Given the description of an element on the screen output the (x, y) to click on. 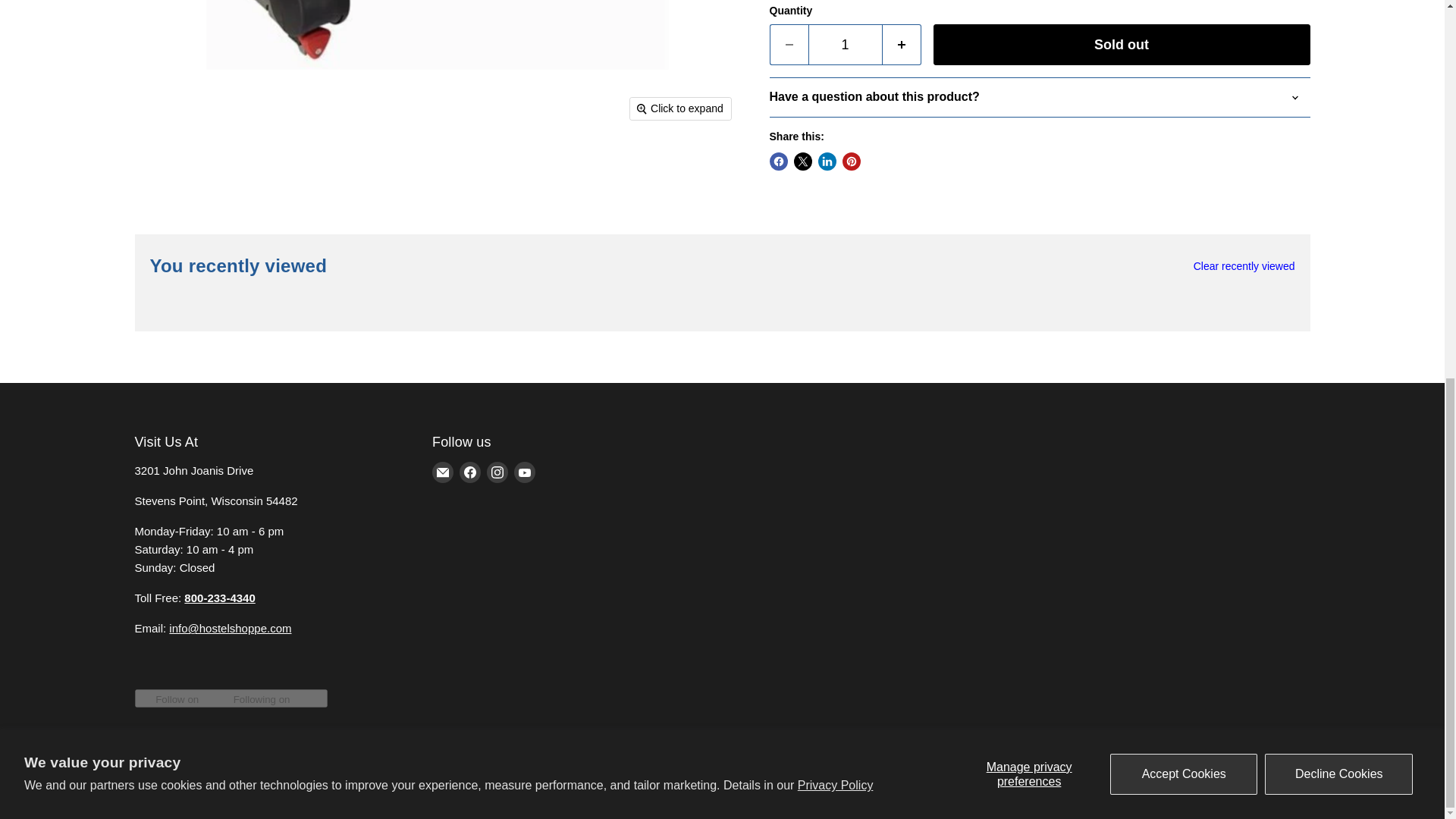
Instagram (497, 472)
YouTube (524, 472)
Contact Hostel Shoppe's general email address. (229, 627)
1 (845, 45)
Facebook (470, 472)
Decline Cookies (1338, 74)
Email (442, 472)
Privacy Policy (835, 85)
Manage privacy preferences (1028, 74)
Accept Cookies (1183, 74)
